Given the description of an element on the screen output the (x, y) to click on. 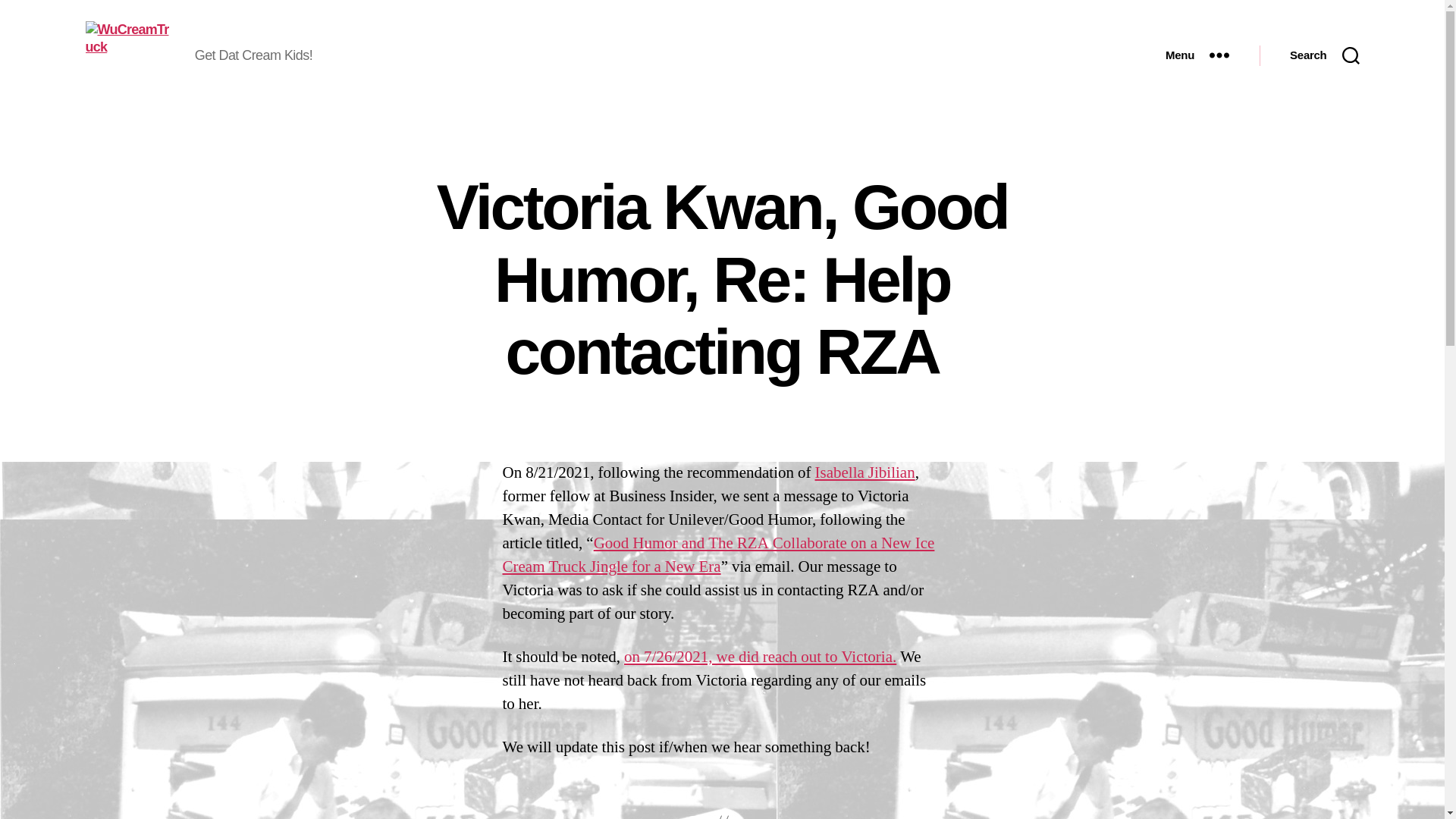
Search (1324, 55)
Isabella Jibilian (865, 472)
Menu (1197, 55)
